Given the description of an element on the screen output the (x, y) to click on. 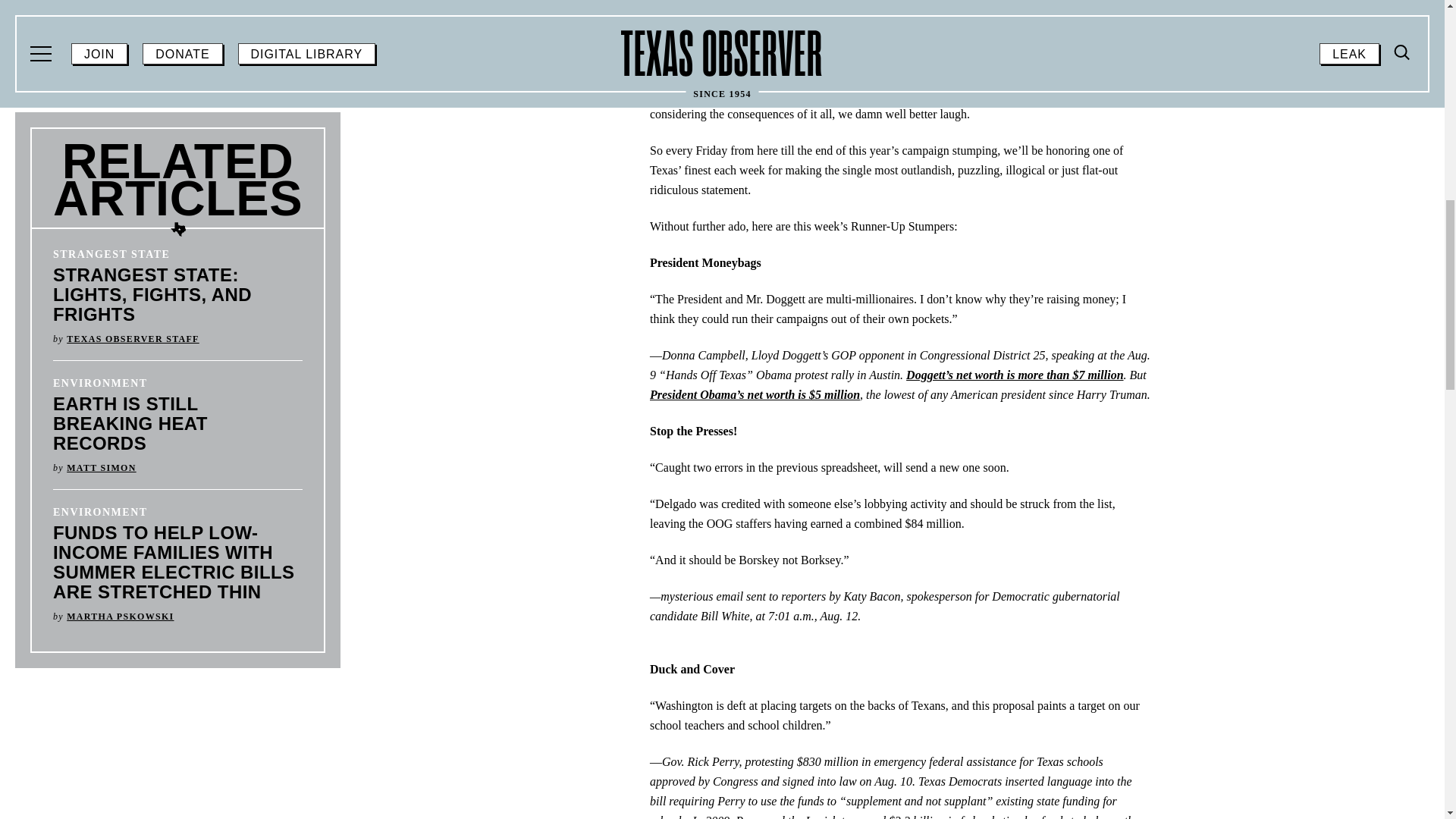
Post by Texas Observer Staff (132, 338)
Post by Matt Simon (100, 467)
Post by Martha Pskowski (119, 615)
